Given the description of an element on the screen output the (x, y) to click on. 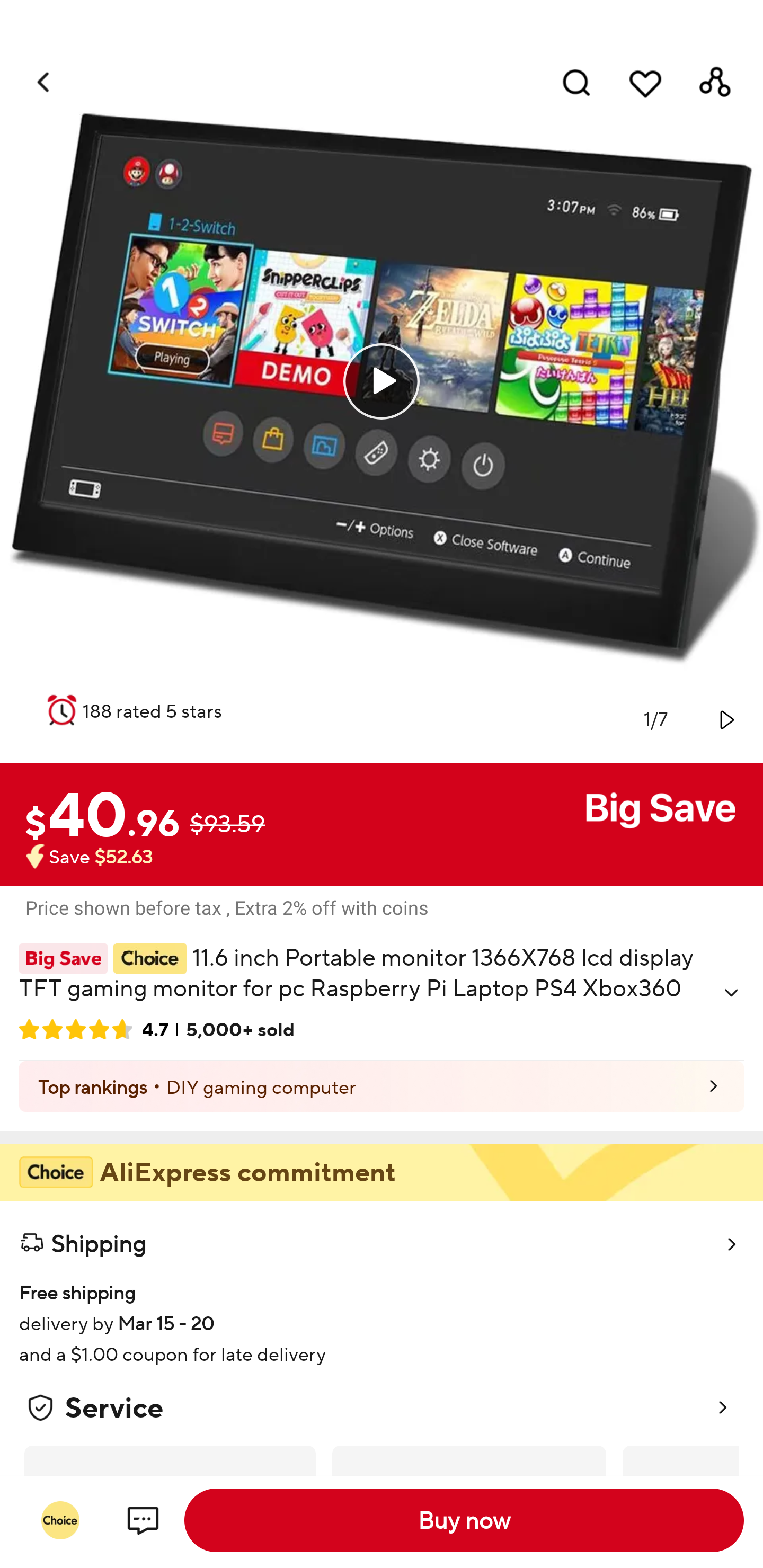
0.0 (381, 381)
Navigate up (44, 82)
 (724, 719)
 (730, 992)
Buy now (463, 1520)
